Given the description of an element on the screen output the (x, y) to click on. 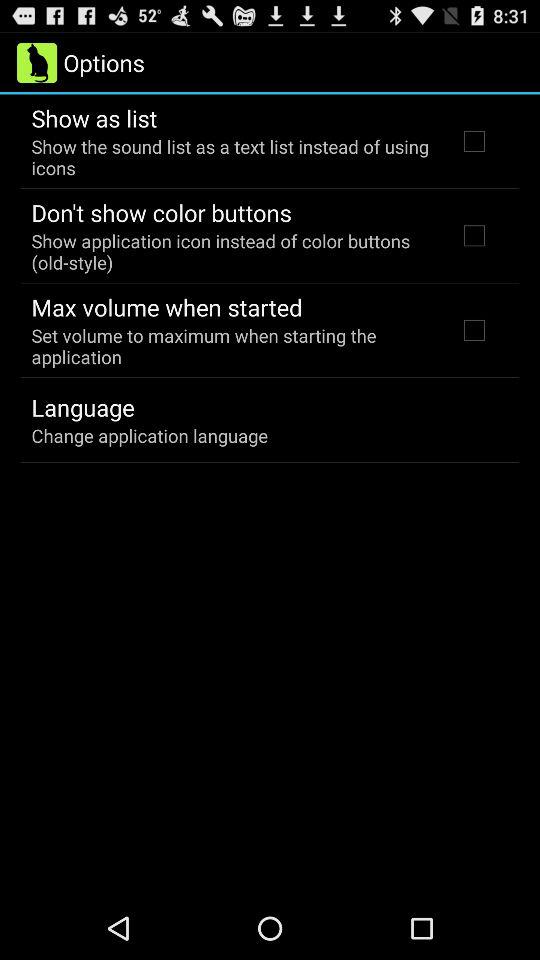
swipe until the show application icon icon (231, 251)
